Given the description of an element on the screen output the (x, y) to click on. 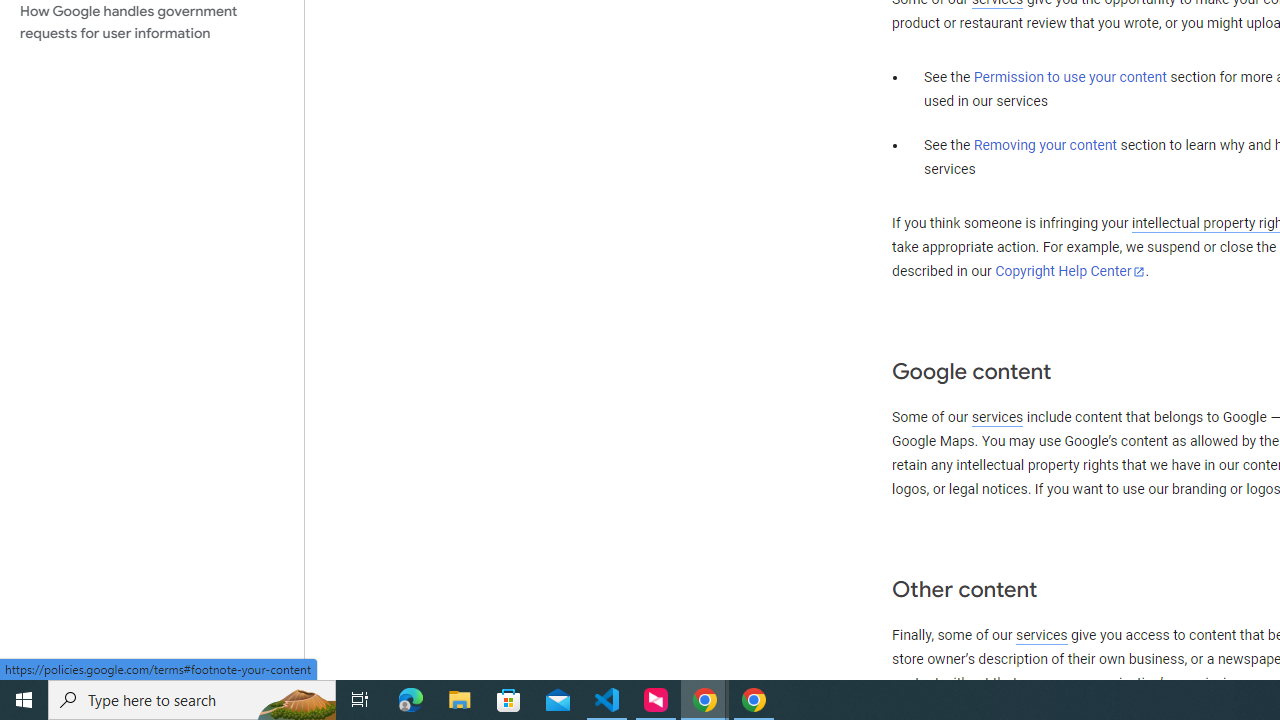
services (1041, 635)
Removing your content (1044, 145)
Permission to use your content (1069, 78)
Copyright Help Center (1069, 271)
